Given the description of an element on the screen output the (x, y) to click on. 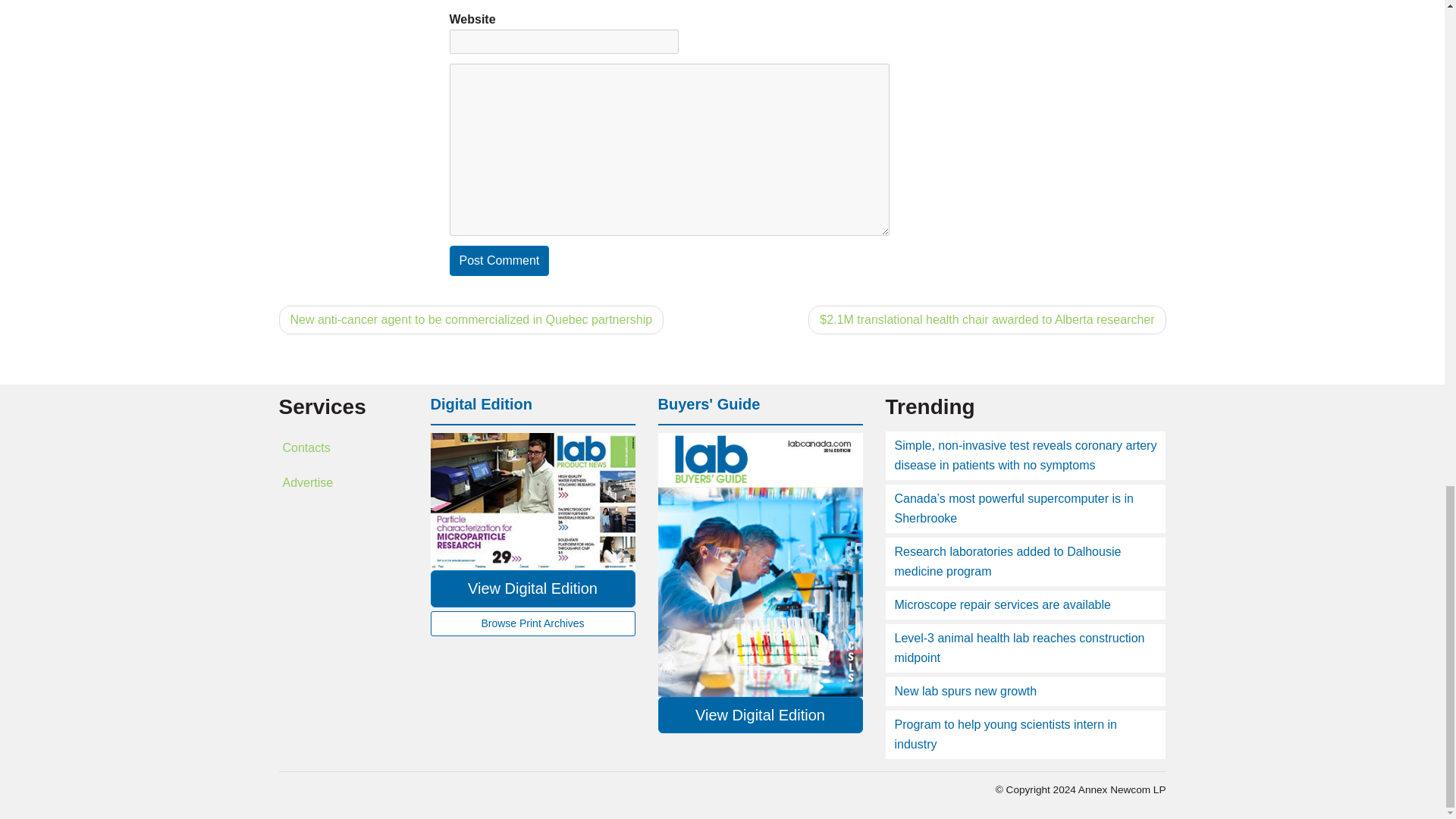
Level-3 animal health lab reaches construction midpoint (1019, 647)
Research laboratories added to Dalhousie medicine program (1008, 561)
Post Comment (498, 260)
Microscope repair services are available (1002, 604)
New lab spurs new growth (965, 690)
Program to help young scientists intern in industry (1005, 734)
